Given the description of an element on the screen output the (x, y) to click on. 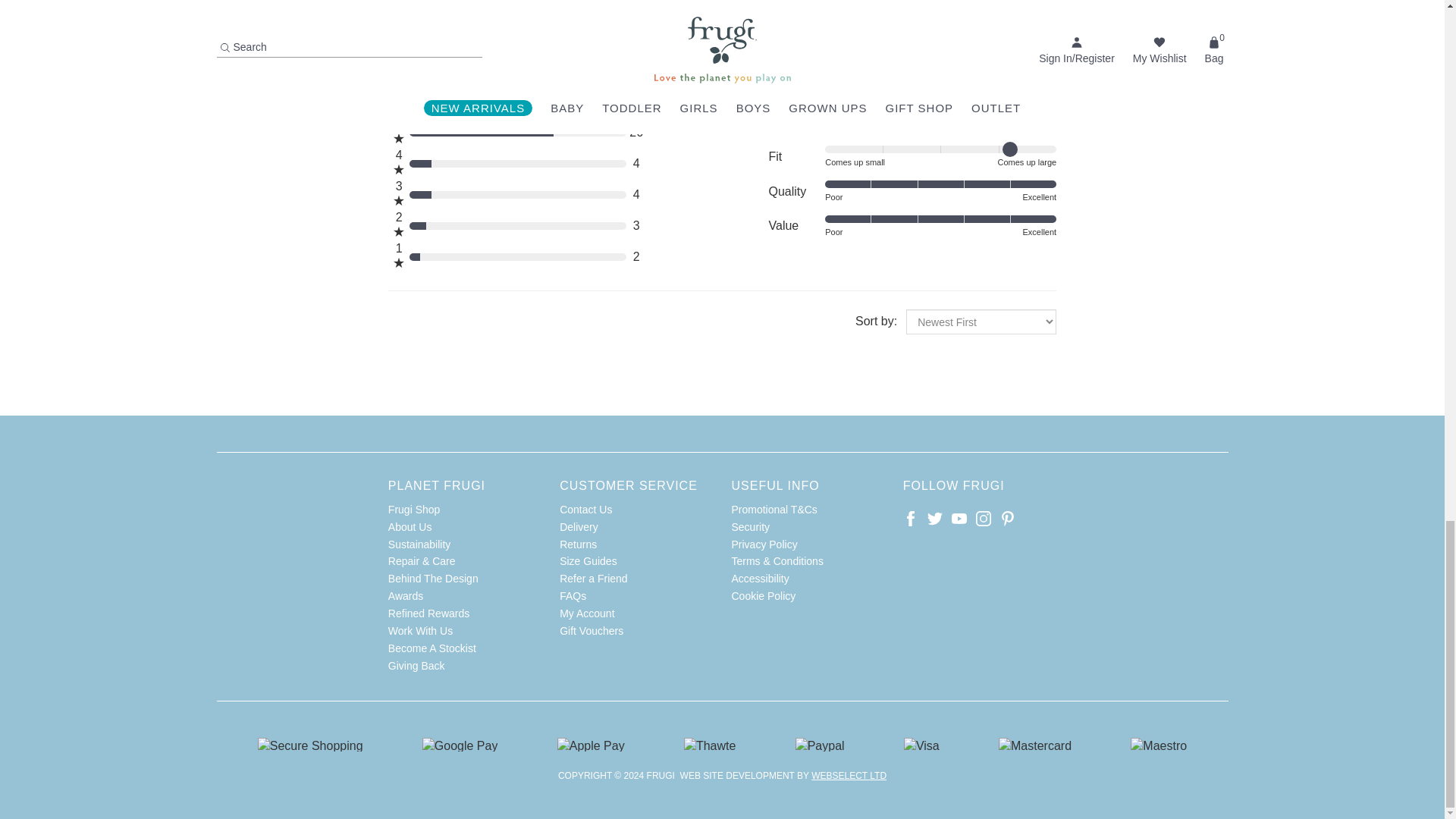
Show reviews with 2 stars (517, 224)
Show reviews with 1 star (517, 255)
Twitter (934, 518)
YouTube (959, 518)
Pinterest (1007, 518)
Show reviews with 3 stars (517, 194)
Show reviews with 4 stars (517, 163)
Show reviews with 5 stars (517, 132)
Facebook (910, 518)
Instagram (983, 518)
